Given the description of an element on the screen output the (x, y) to click on. 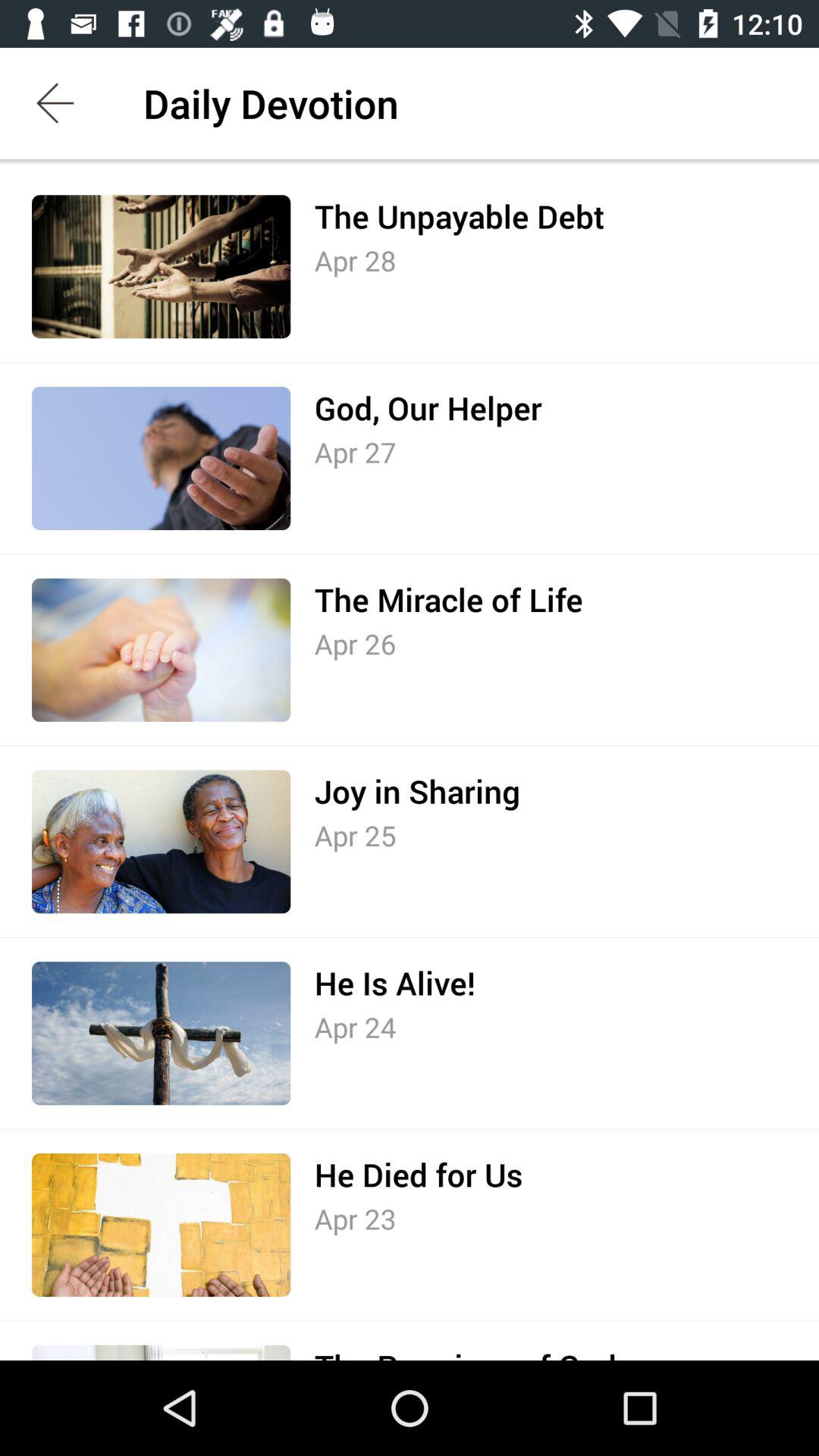
turn off apr 27 item (355, 451)
